Given the description of an element on the screen output the (x, y) to click on. 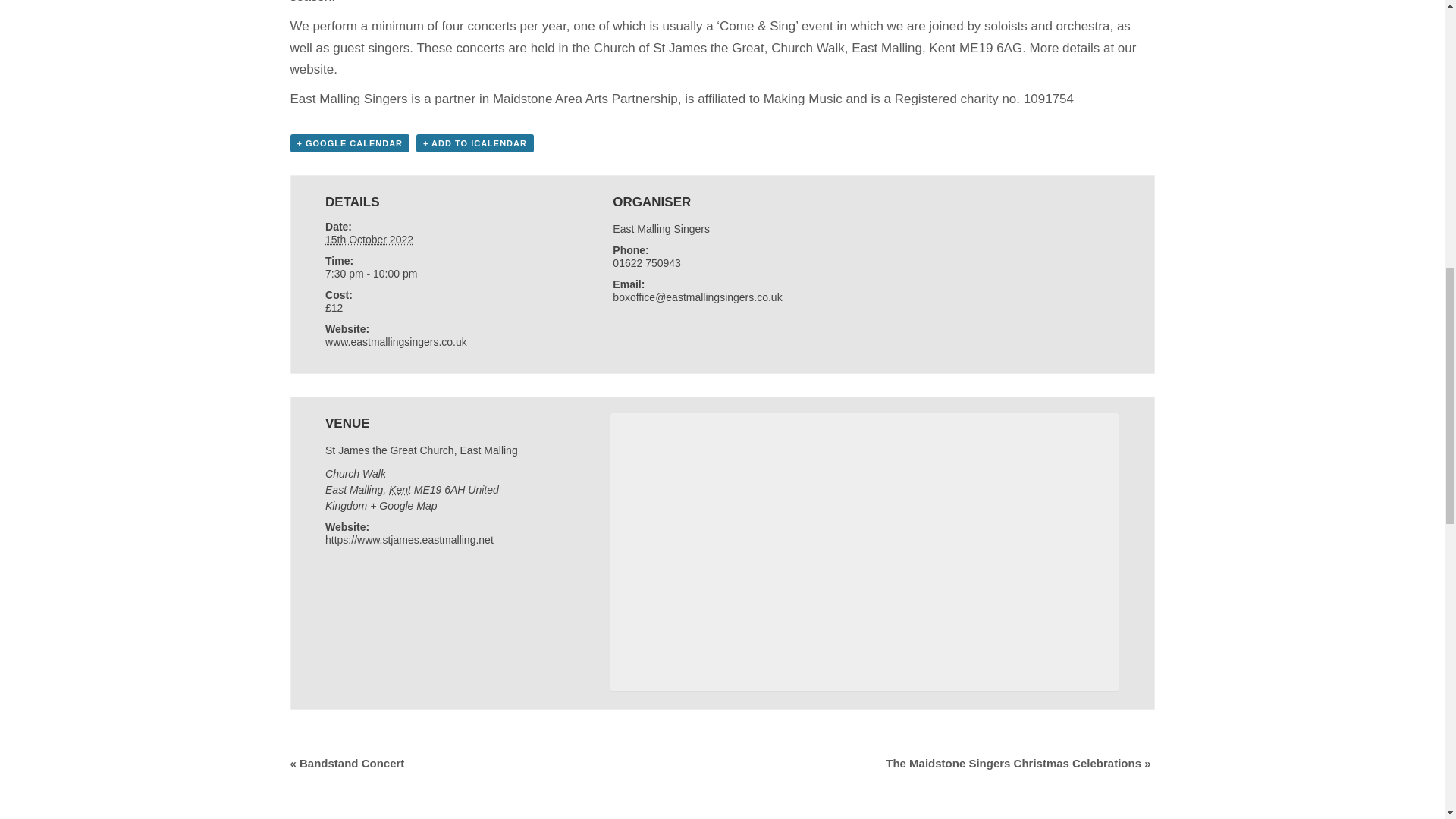
2022-10-15 (433, 273)
Click to view a Google Map (402, 505)
Add to Google Calendar (349, 143)
Kent (399, 490)
2022-10-15 (368, 239)
www.eastmallingsingers.co.uk (395, 341)
website (311, 69)
Download .ics file (475, 143)
